Given the description of an element on the screen output the (x, y) to click on. 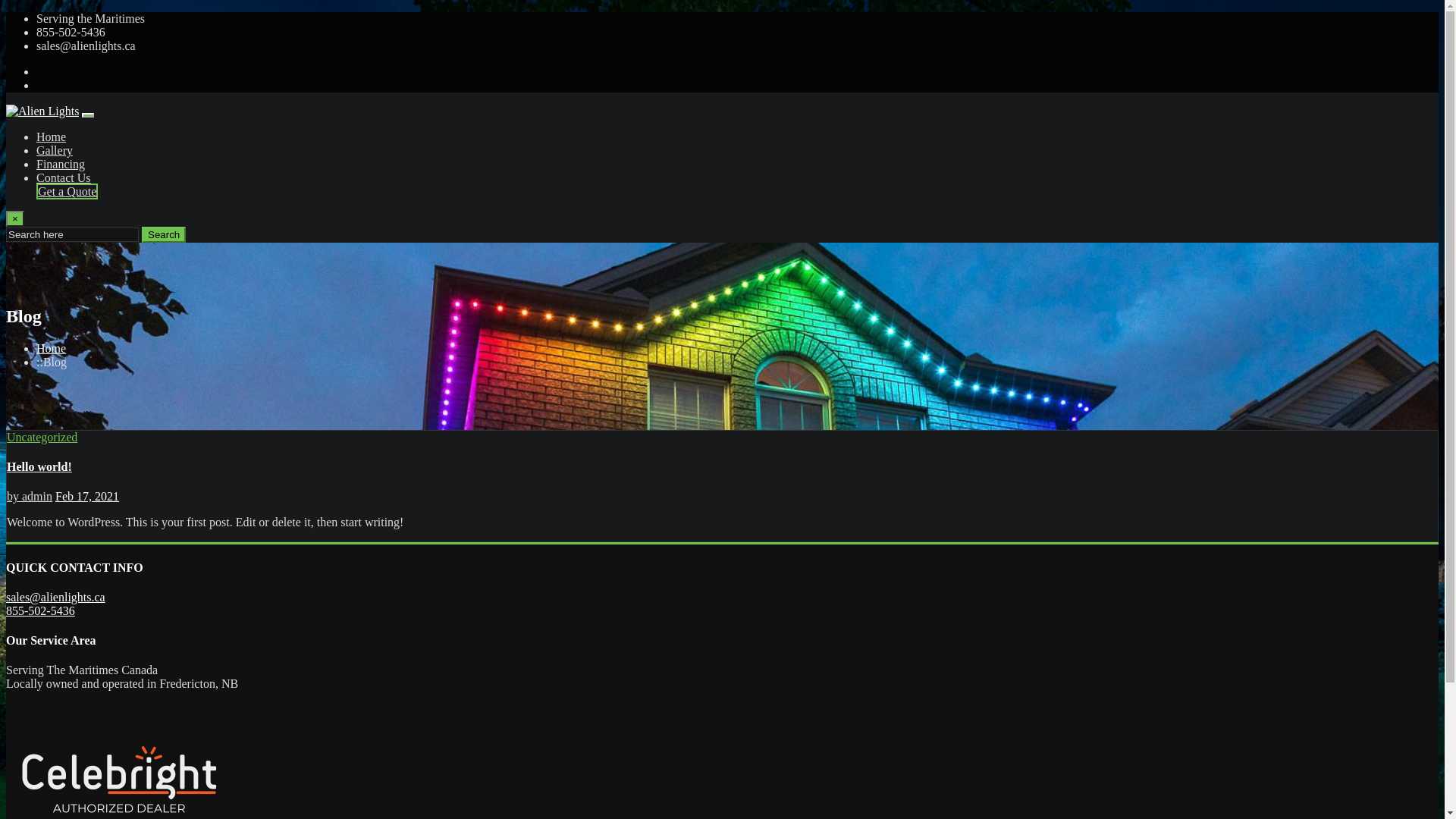
Home Element type: text (50, 348)
Feb 17, 2021 Element type: text (87, 495)
Hello world! Element type: text (39, 466)
Contact Us Element type: text (63, 177)
Uncategorized Element type: text (41, 436)
Get a Quote Element type: text (66, 191)
855-502-5436 Element type: text (40, 610)
Home Element type: text (50, 136)
Search Element type: text (163, 234)
Financing Element type: text (60, 163)
by admin Element type: text (29, 495)
Gallery Element type: text (54, 150)
sales@alienlights.ca Element type: text (55, 596)
